Given the description of an element on the screen output the (x, y) to click on. 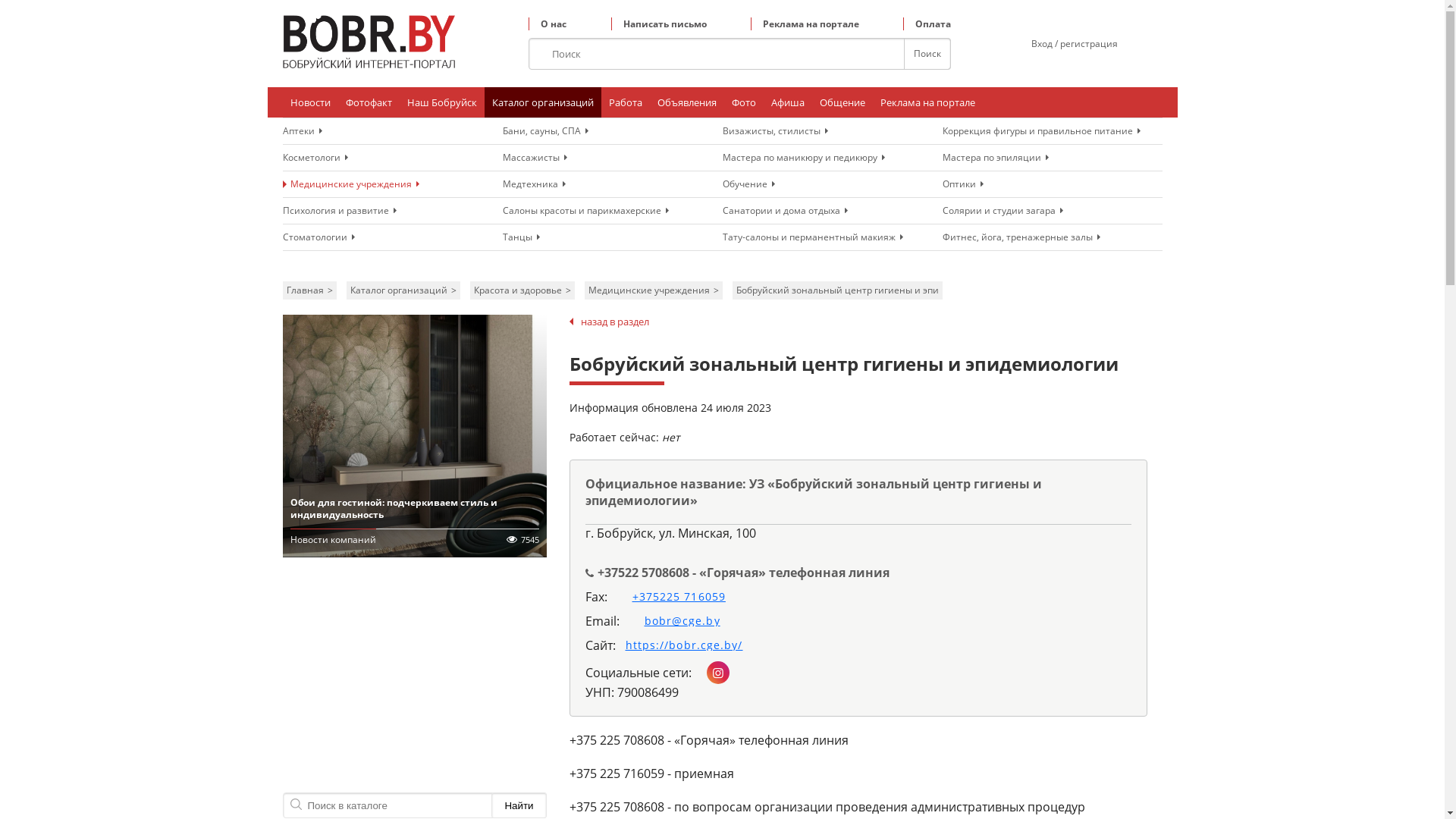
bobr@cge.by Element type: text (676, 620)
https://bobr.cge.by/ Element type: text (679, 645)
Advertisement Element type: hover (414, 678)
+375225 716059 Element type: text (672, 596)
